Given the description of an element on the screen output the (x, y) to click on. 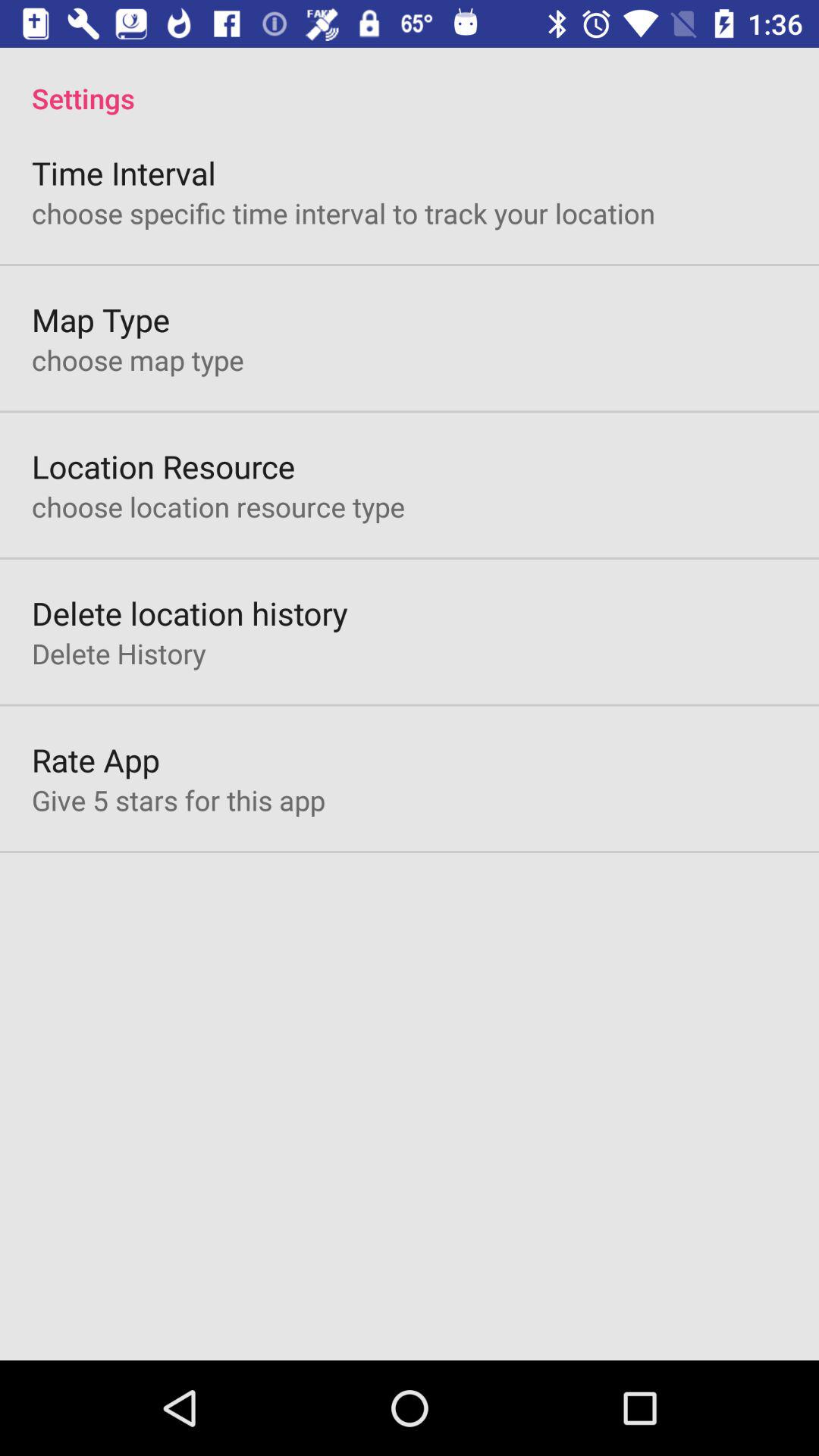
jump until settings app (409, 82)
